Given the description of an element on the screen output the (x, y) to click on. 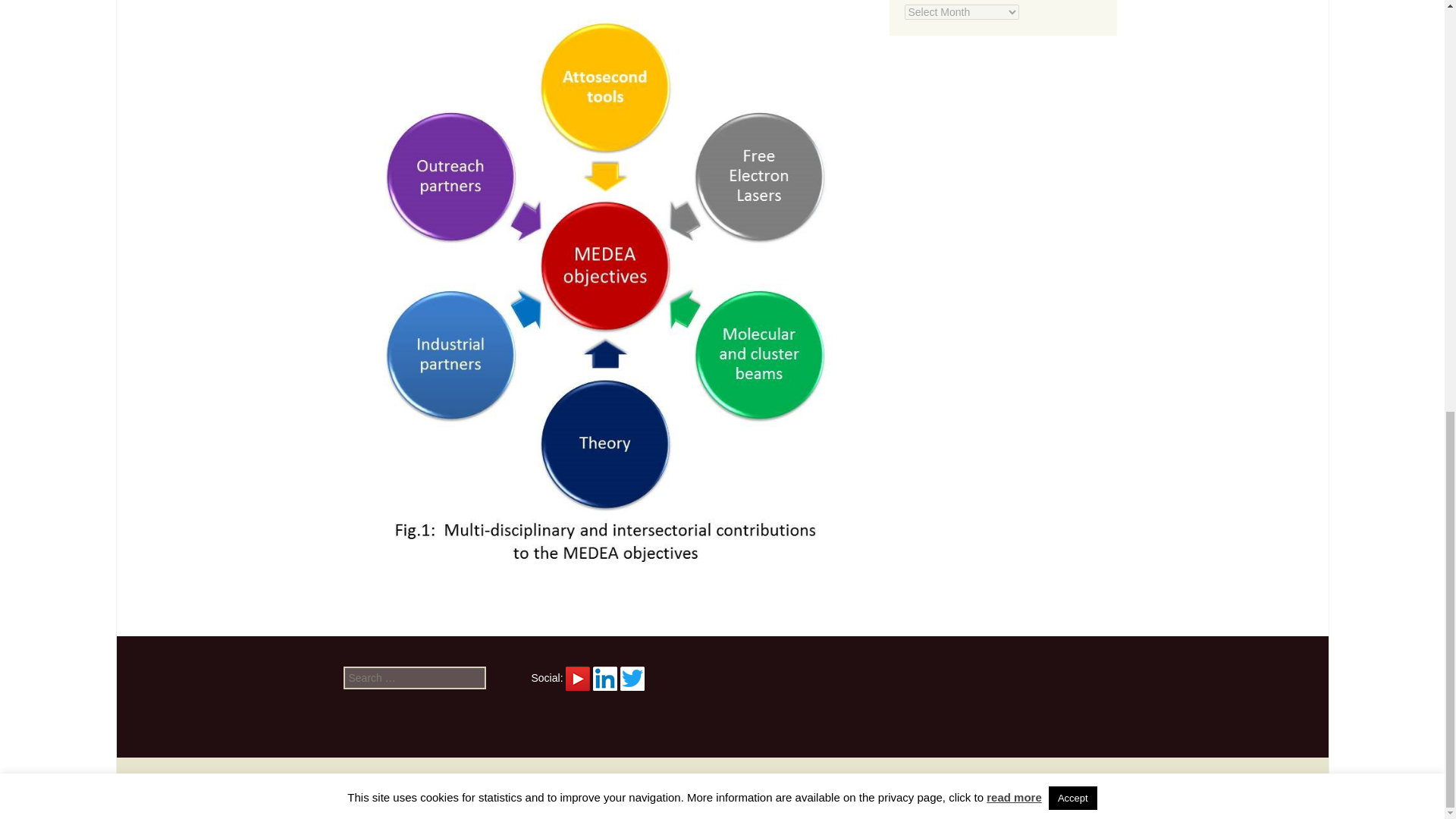
Twitter (632, 678)
Linkedin (604, 678)
YouTube (577, 676)
